Given the description of an element on the screen output the (x, y) to click on. 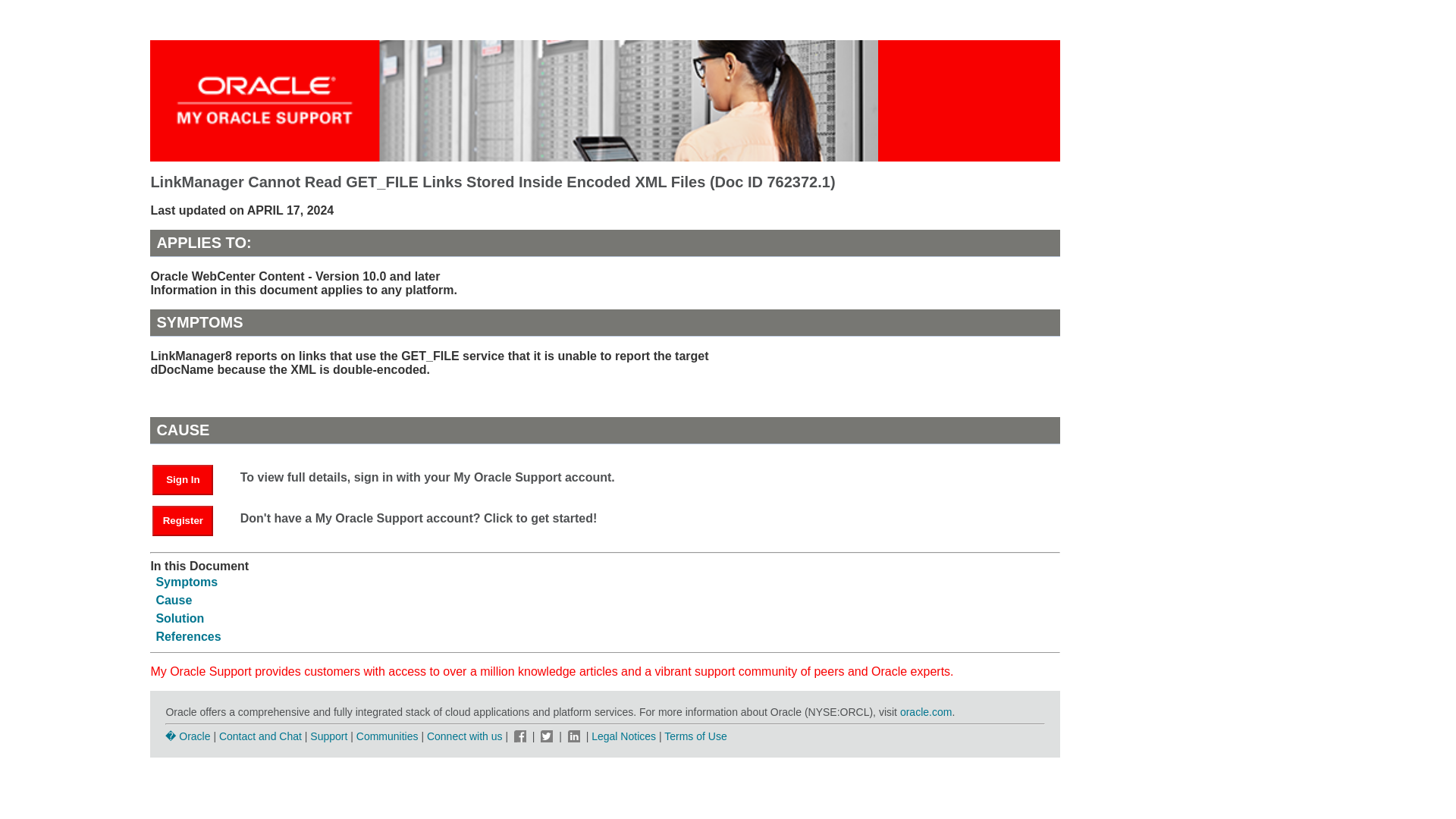
Register (182, 521)
Sign In (190, 478)
Communities (387, 736)
Solution (179, 617)
Legal Notices (623, 736)
Symptoms (185, 581)
Cause (173, 599)
Contact and Chat (260, 736)
Support (328, 736)
oracle.com (925, 711)
